Given the description of an element on the screen output the (x, y) to click on. 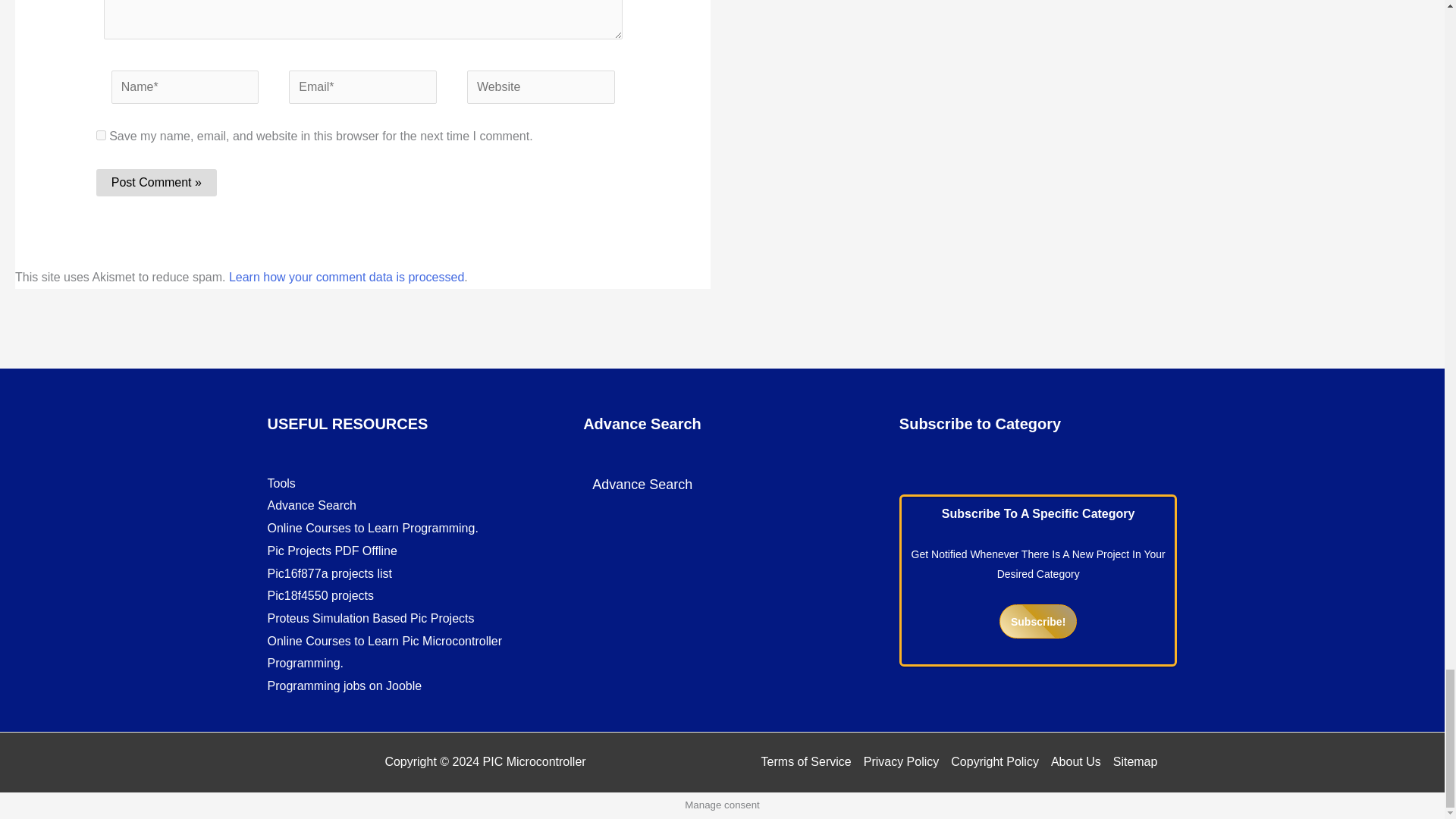
yes (101, 135)
